Given the description of an element on the screen output the (x, y) to click on. 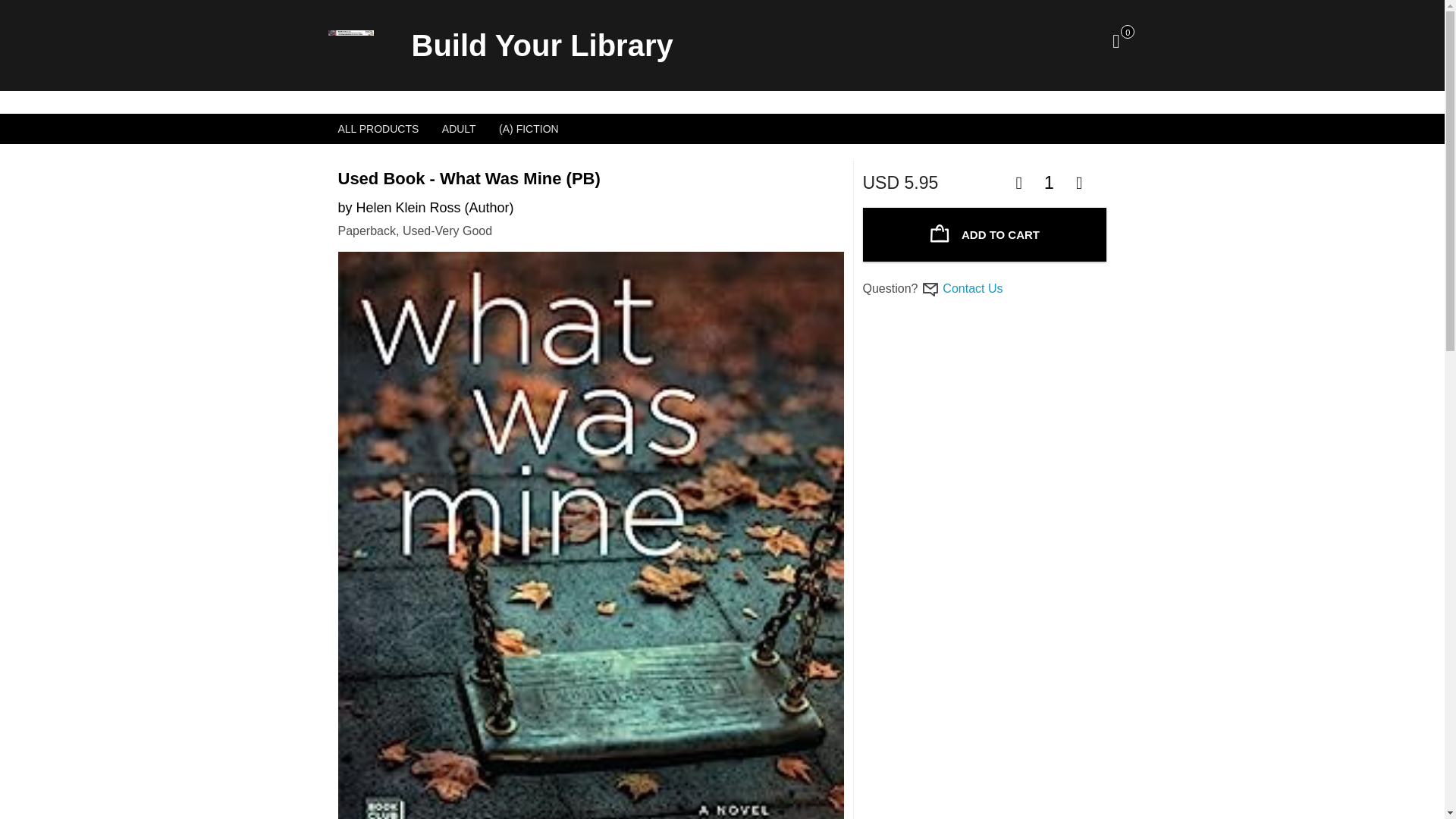
ADULT (459, 128)
Contact Us (972, 287)
ADD TO CART (984, 234)
ALL PRODUCTS (377, 128)
